Given the description of an element on the screen output the (x, y) to click on. 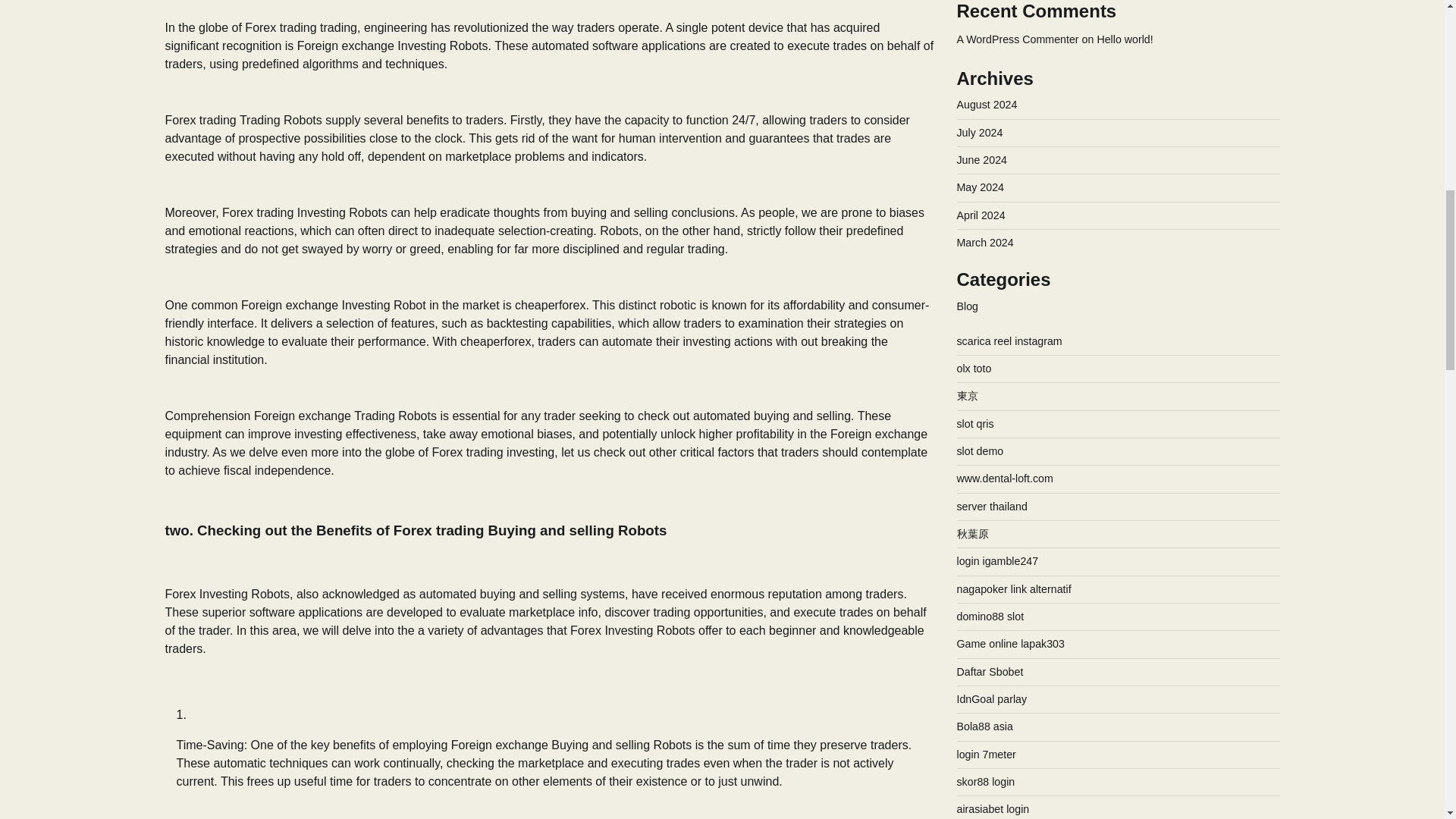
olx toto (973, 104)
Blog (967, 42)
slot demo (980, 186)
slot qris (975, 159)
scarica reel instagram (1009, 77)
